Given the description of an element on the screen output the (x, y) to click on. 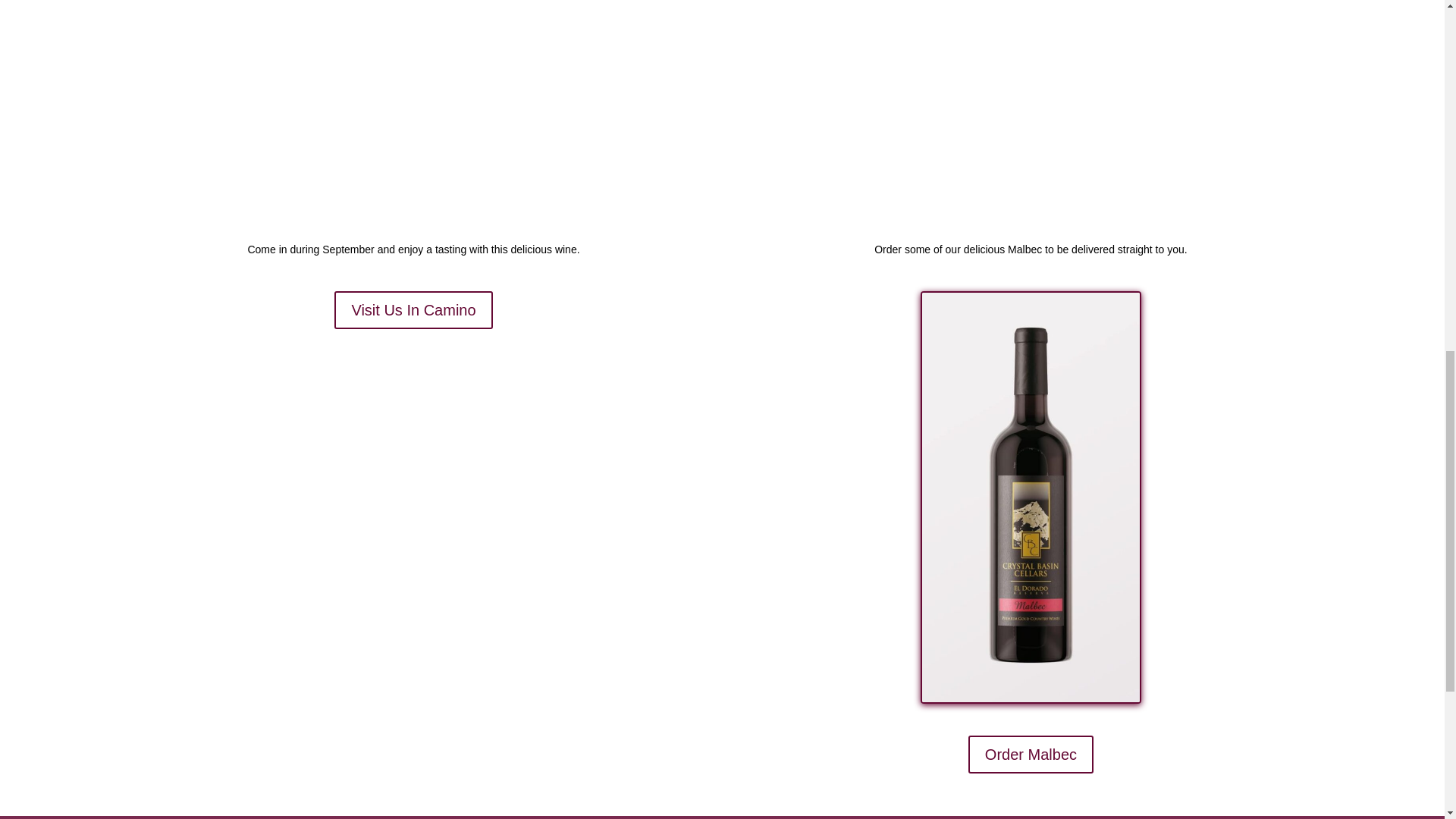
Visit Us In Camino (413, 310)
Order Malbec (1030, 754)
